Given the description of an element on the screen output the (x, y) to click on. 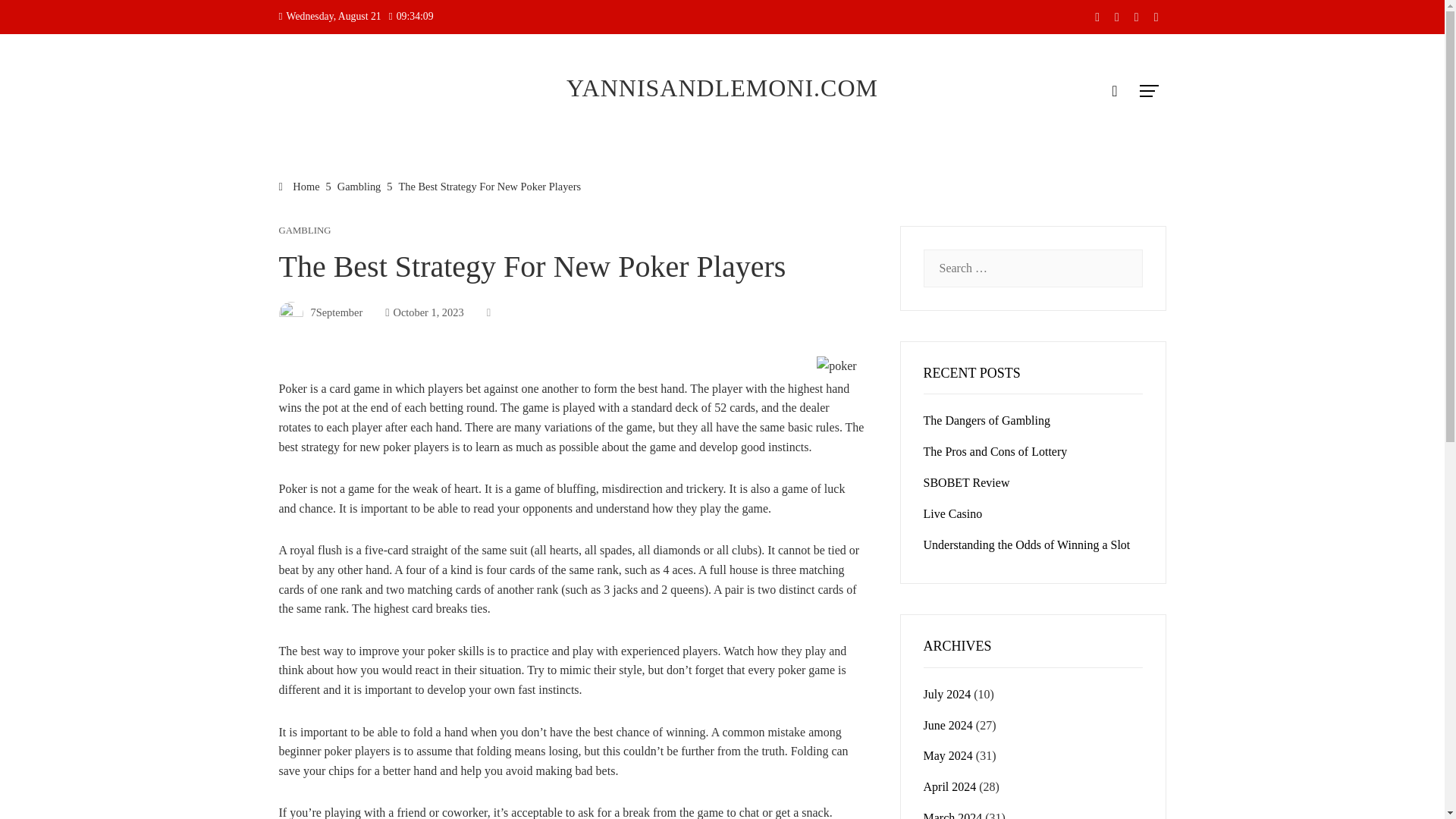
Home (299, 186)
Search (35, 18)
GAMBLING (305, 230)
June 2024 (947, 725)
YANNISANDLEMONI.COM (721, 87)
March 2024 (952, 815)
The Pros and Cons of Lottery (995, 451)
The Dangers of Gambling (987, 420)
Gambling (359, 186)
July 2024 (947, 694)
